Given the description of an element on the screen output the (x, y) to click on. 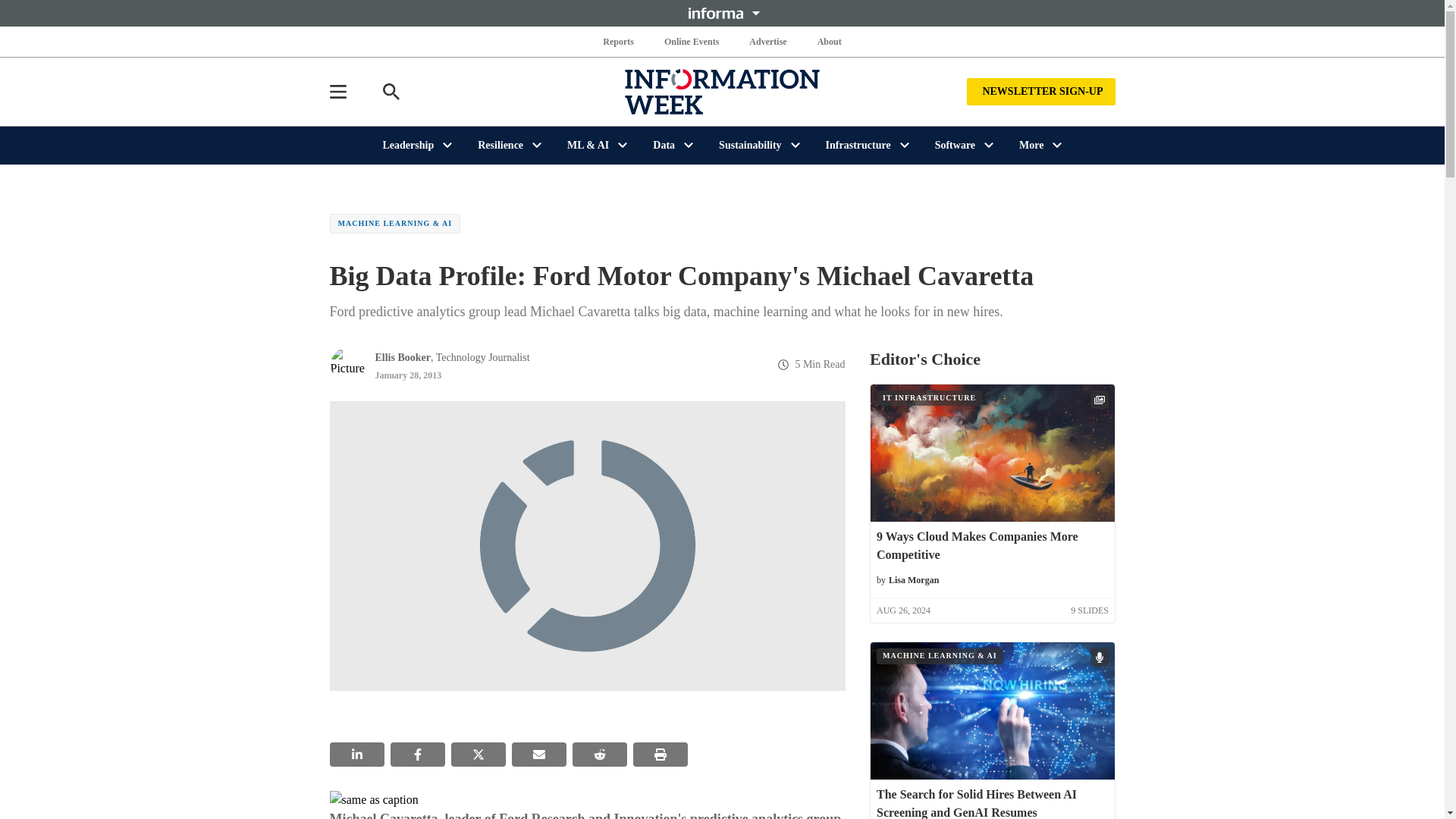
Online Events (691, 41)
Reports (618, 41)
About (828, 41)
Advertise (767, 41)
InformationWeek (722, 91)
NEWSLETTER SIGN-UP (1040, 90)
